Given the description of an element on the screen output the (x, y) to click on. 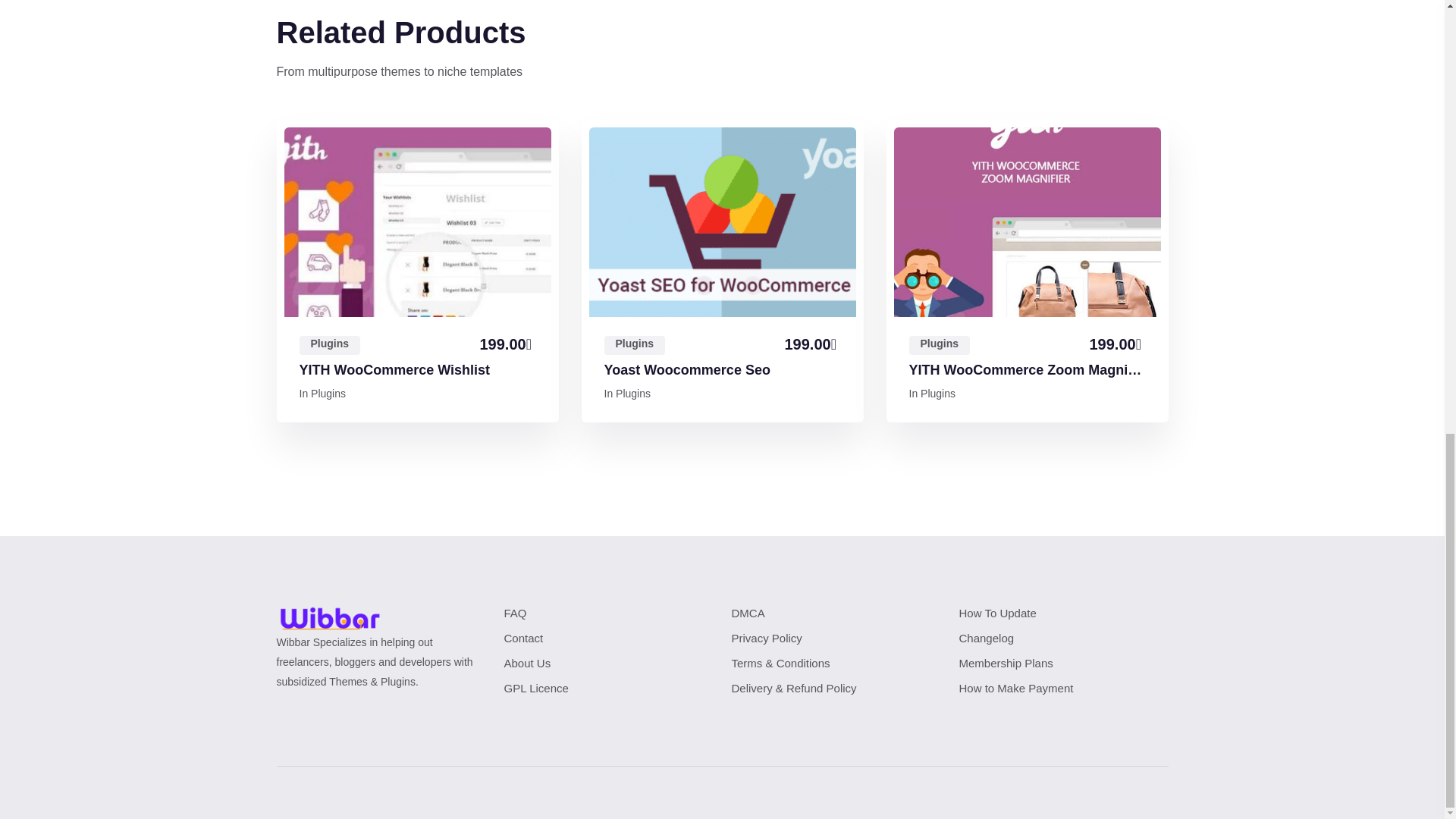
Yoast Woocommerce Seo (687, 370)
Plugins (632, 393)
Plugins (328, 393)
YITH WooCommerce Wishlist (393, 370)
Plugins (328, 344)
Plugins (634, 344)
YITH WooCommerce Zoom Magnifier Premium (1026, 370)
Plugins (938, 344)
